Given the description of an element on the screen output the (x, y) to click on. 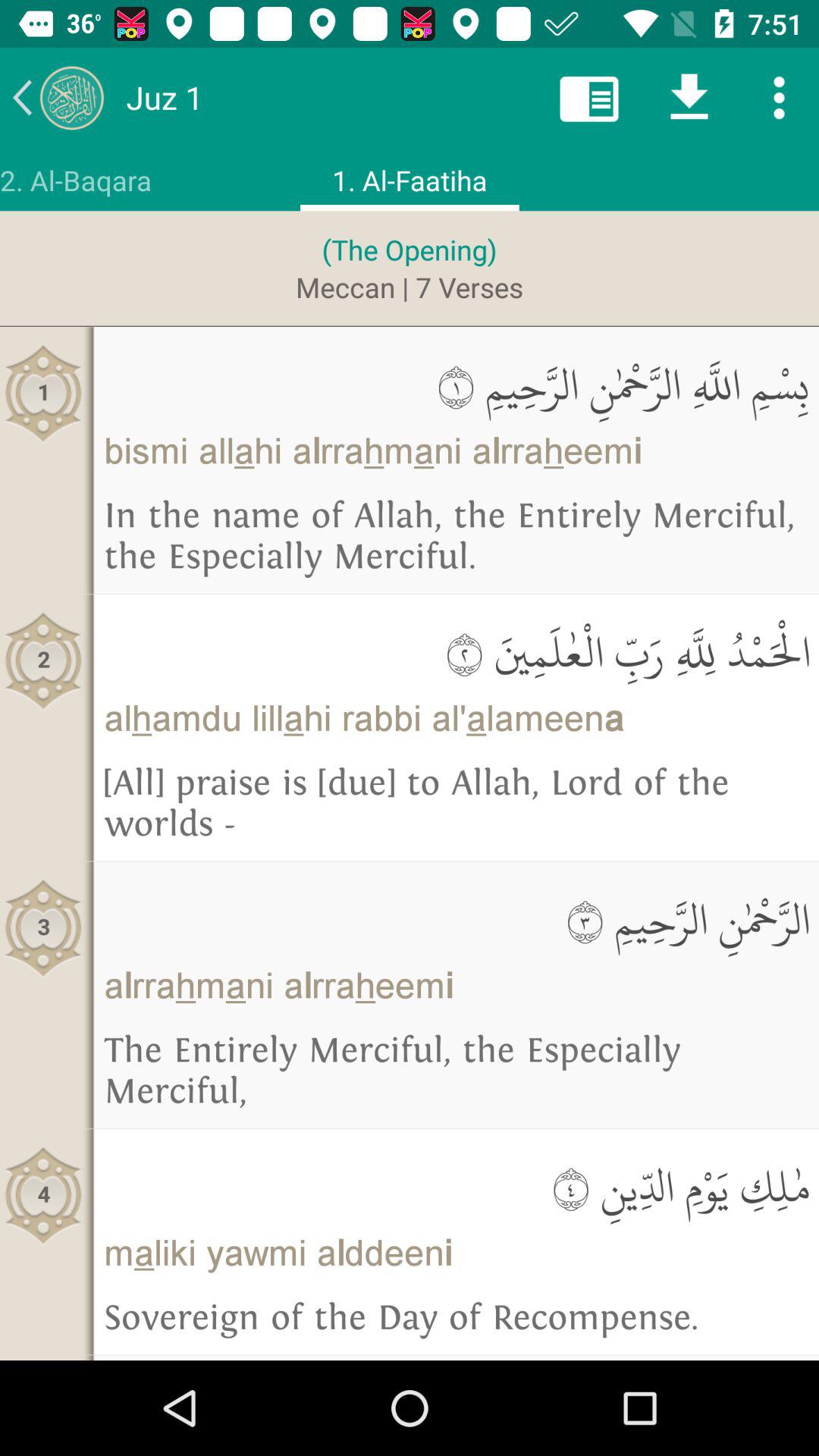
go to options (779, 97)
